Given the description of an element on the screen output the (x, y) to click on. 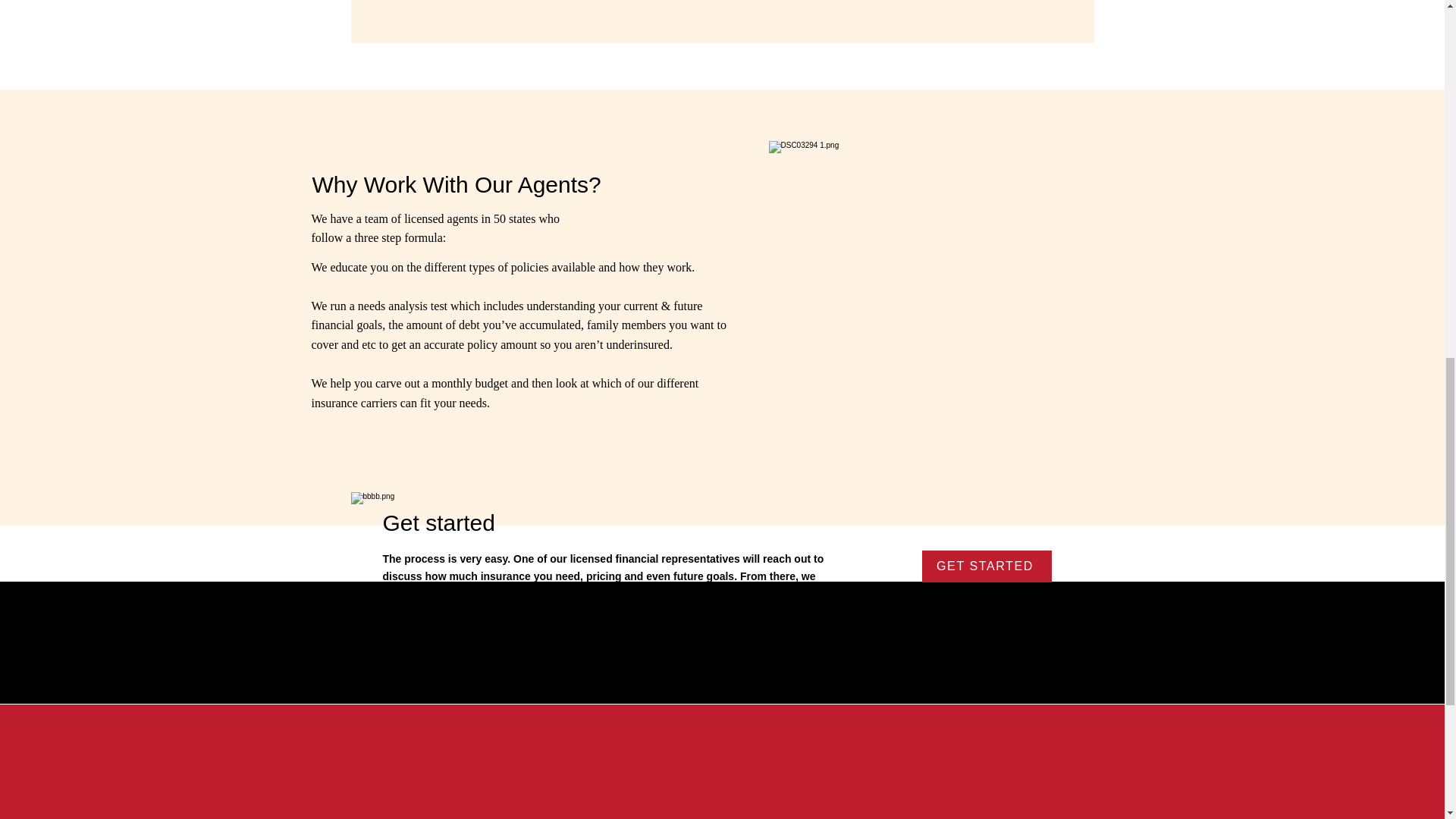
GET STARTED (986, 566)
